Given the description of an element on the screen output the (x, y) to click on. 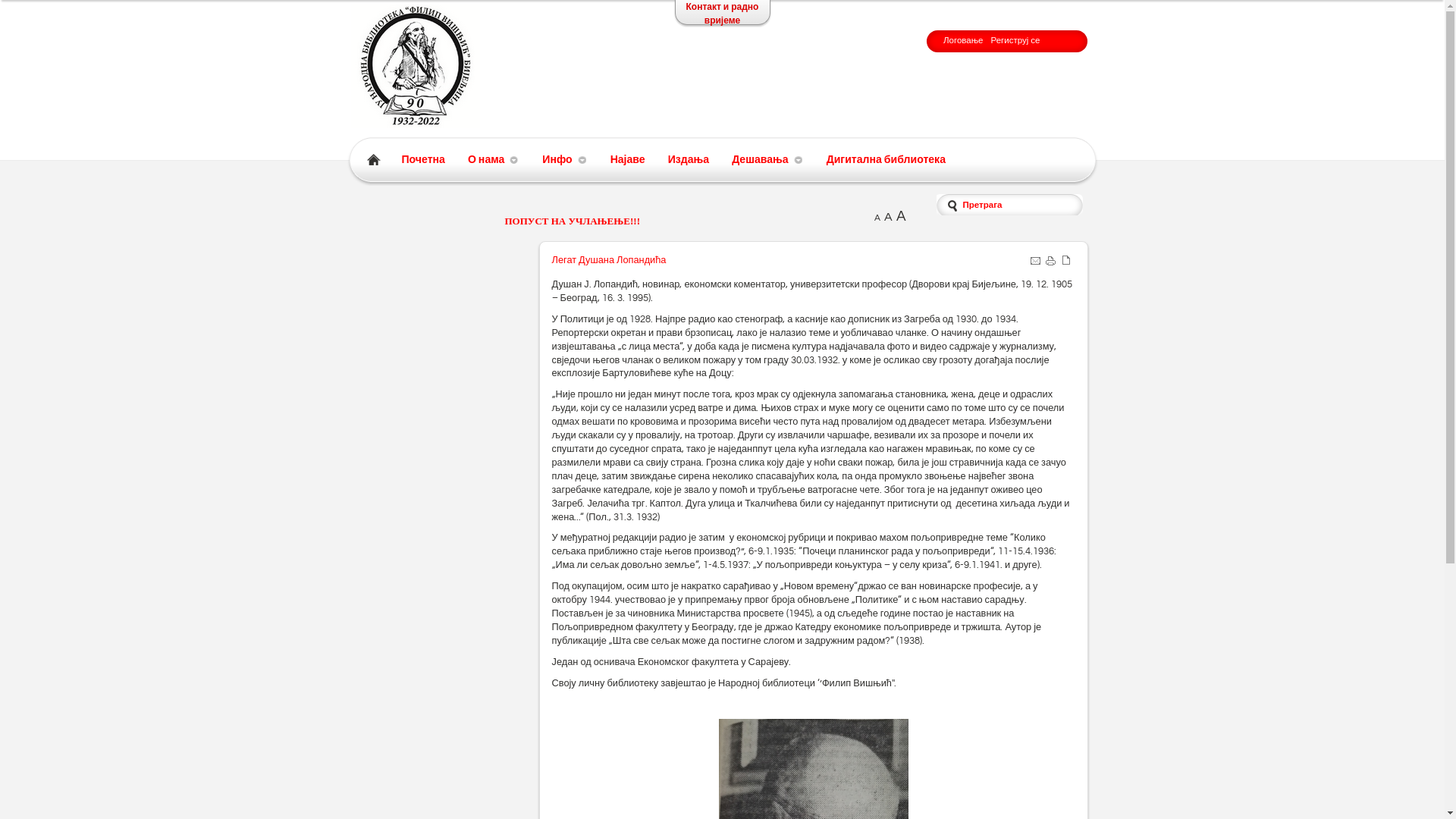
A Element type: text (876, 217)
A Element type: text (888, 216)
Search Element type: text (59, 10)
A Element type: text (901, 215)
